Given the description of an element on the screen output the (x, y) to click on. 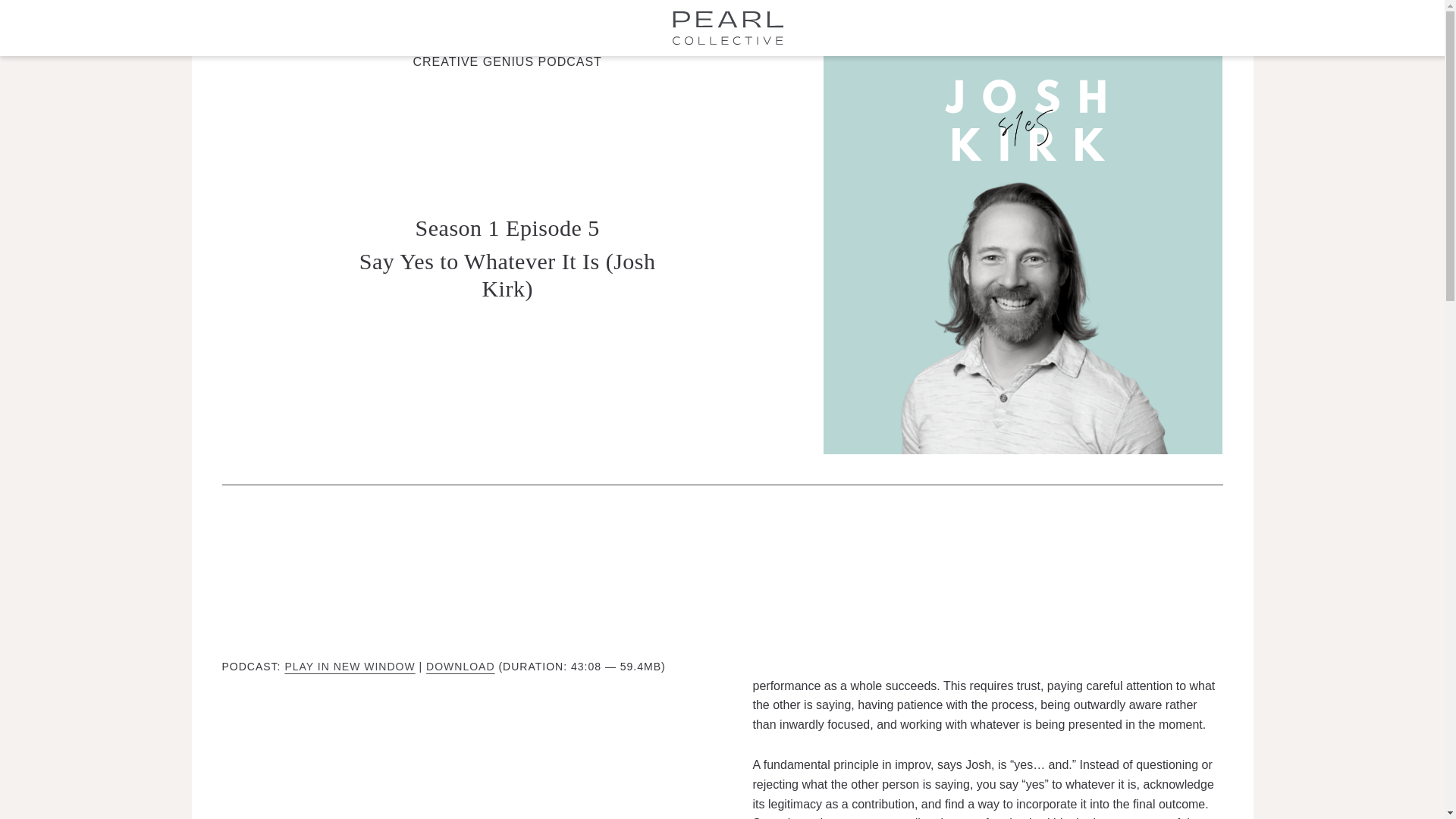
Download (460, 666)
Blubrry Podcast Player (456, 738)
PLAY IN NEW WINDOW (348, 666)
DOWNLOAD (460, 666)
Play in new window (348, 666)
Blubrry Podcast Player (722, 577)
